Given the description of an element on the screen output the (x, y) to click on. 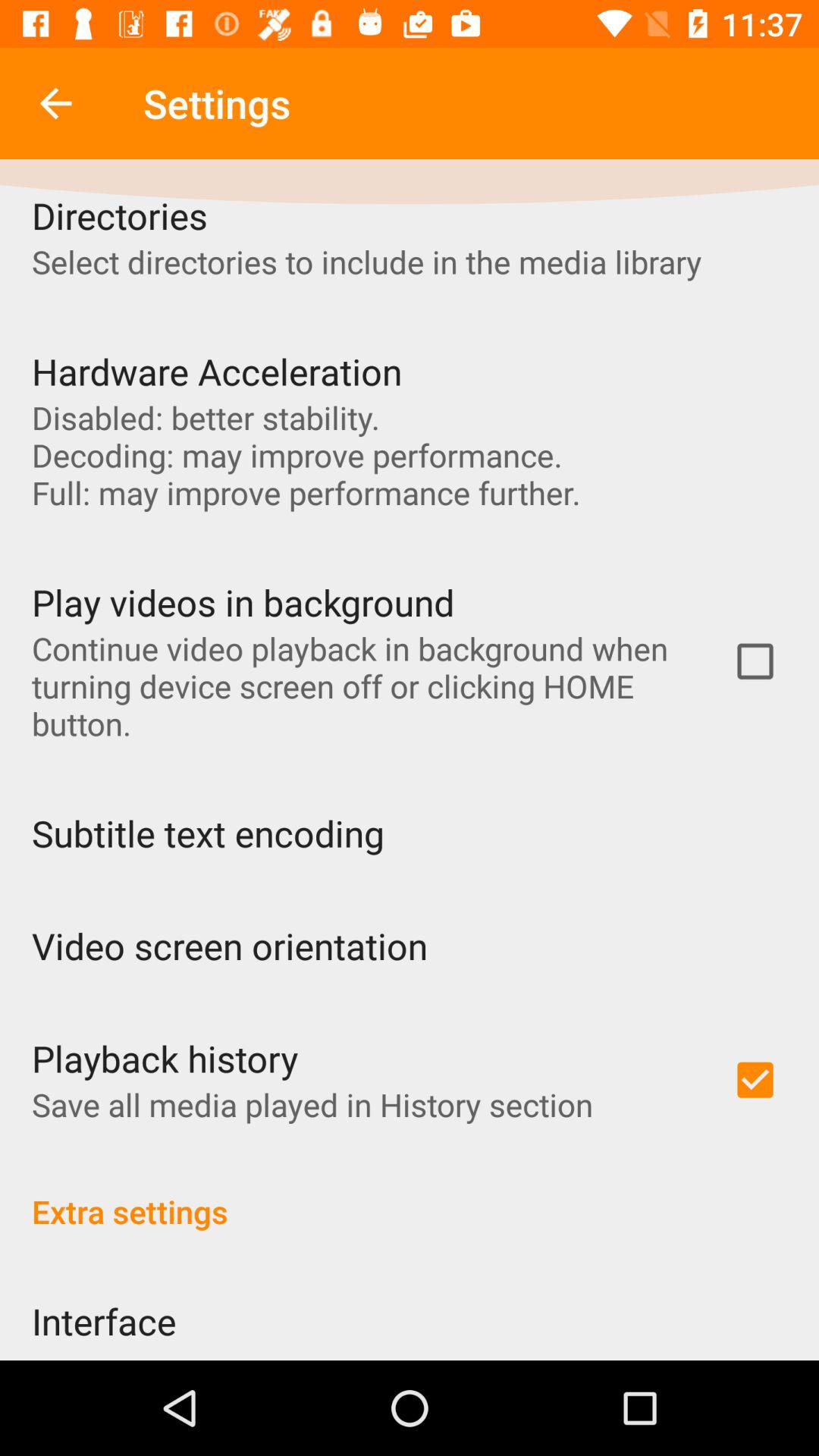
launch the item above interface (409, 1195)
